Given the description of an element on the screen output the (x, y) to click on. 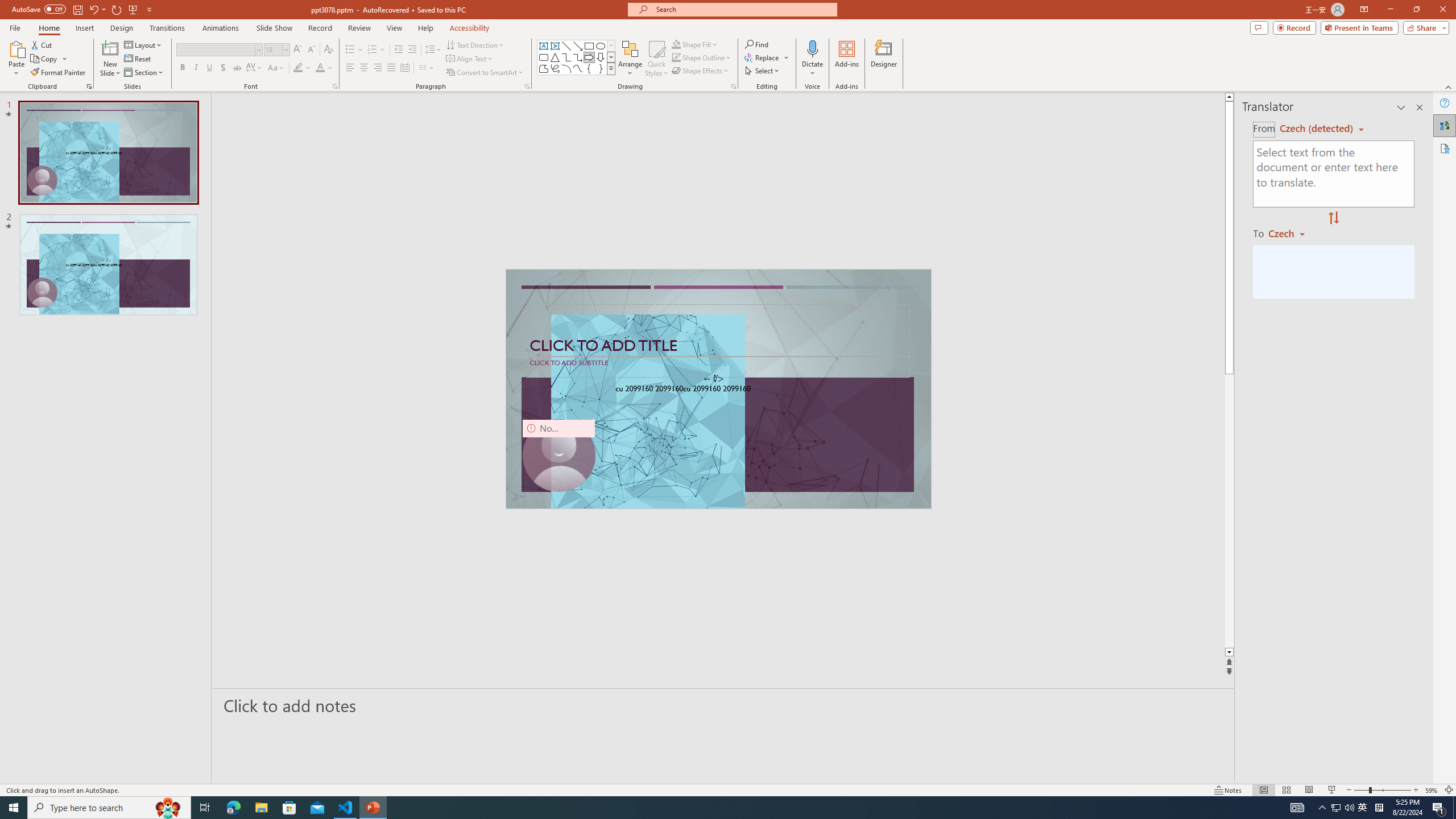
Increase Font Size (297, 49)
Subtitle TextBox (717, 366)
Layout (143, 44)
Oval (600, 45)
